Given the description of an element on the screen output the (x, y) to click on. 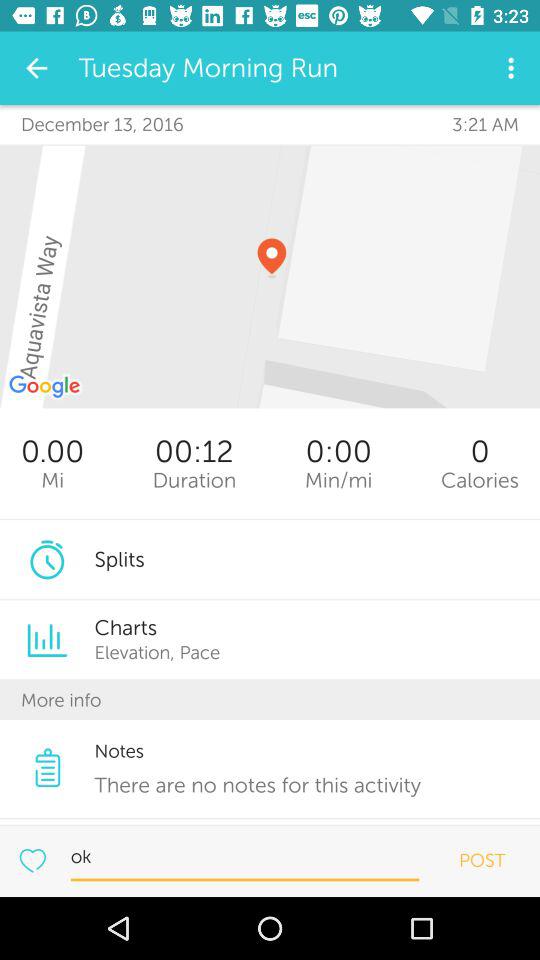
add to favorites (32, 860)
